Given the description of an element on the screen output the (x, y) to click on. 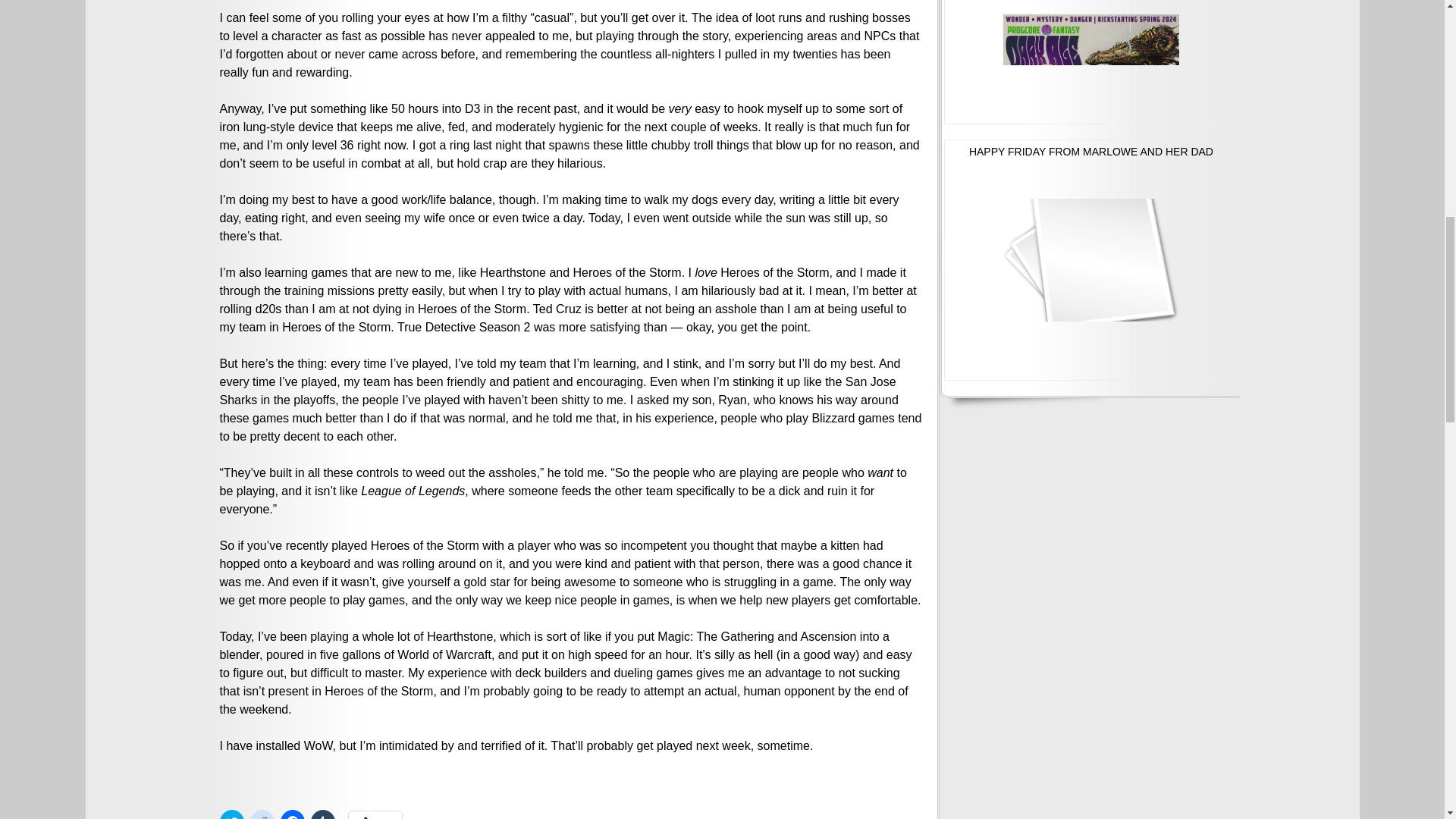
Click to share on Twitter (231, 814)
Click to share on Facebook (292, 814)
More (376, 815)
PROGCORE IS COMING (1090, 61)
Click to share on Reddit (262, 814)
Click to share on Tumblr (322, 814)
HAPPY FRIDAY FROM MARLOWE AND HER DAD (1090, 260)
